Given the description of an element on the screen output the (x, y) to click on. 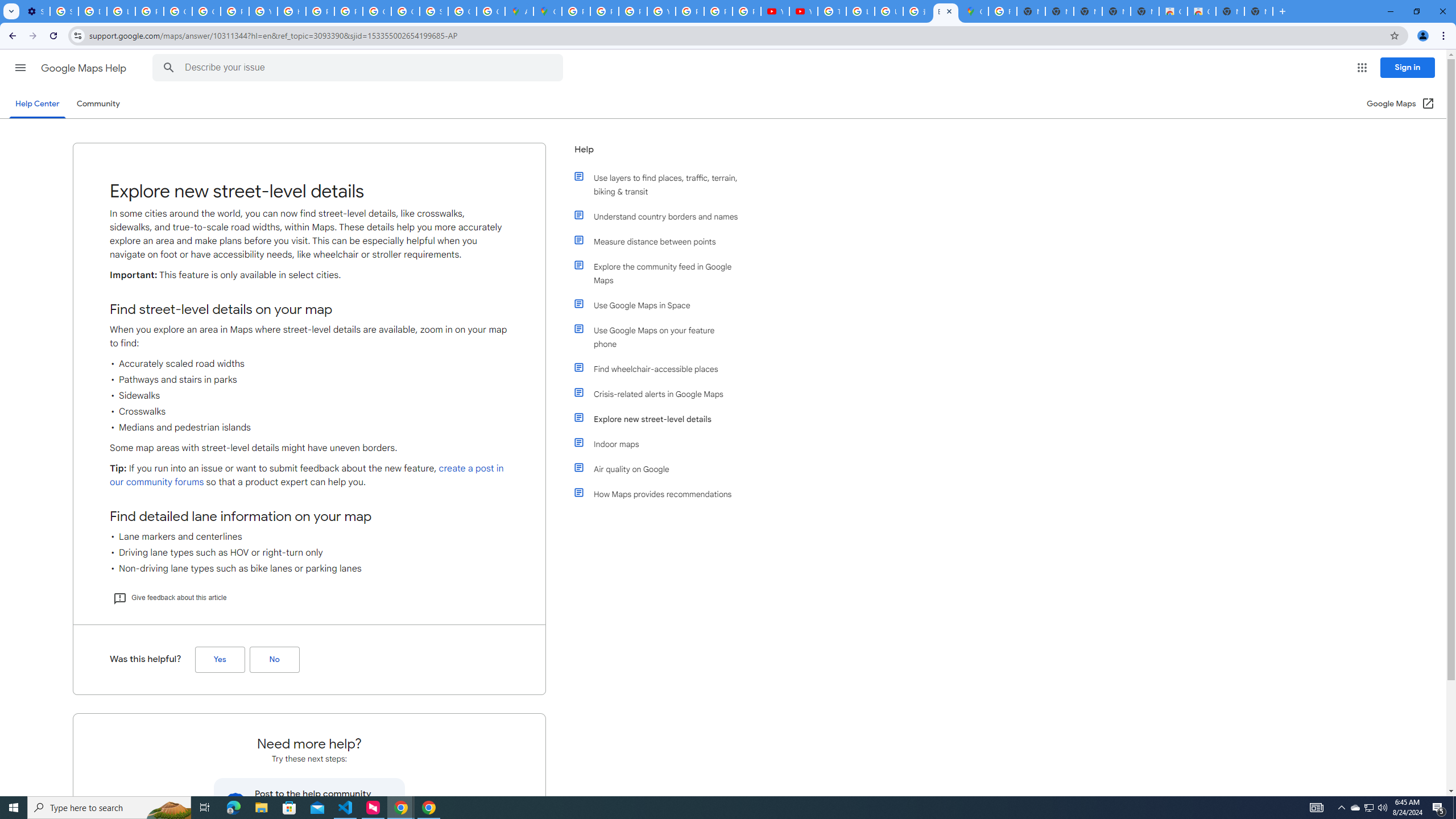
Google Maps (547, 11)
Community (97, 103)
Understand country borders and names (661, 216)
